Given the description of an element on the screen output the (x, y) to click on. 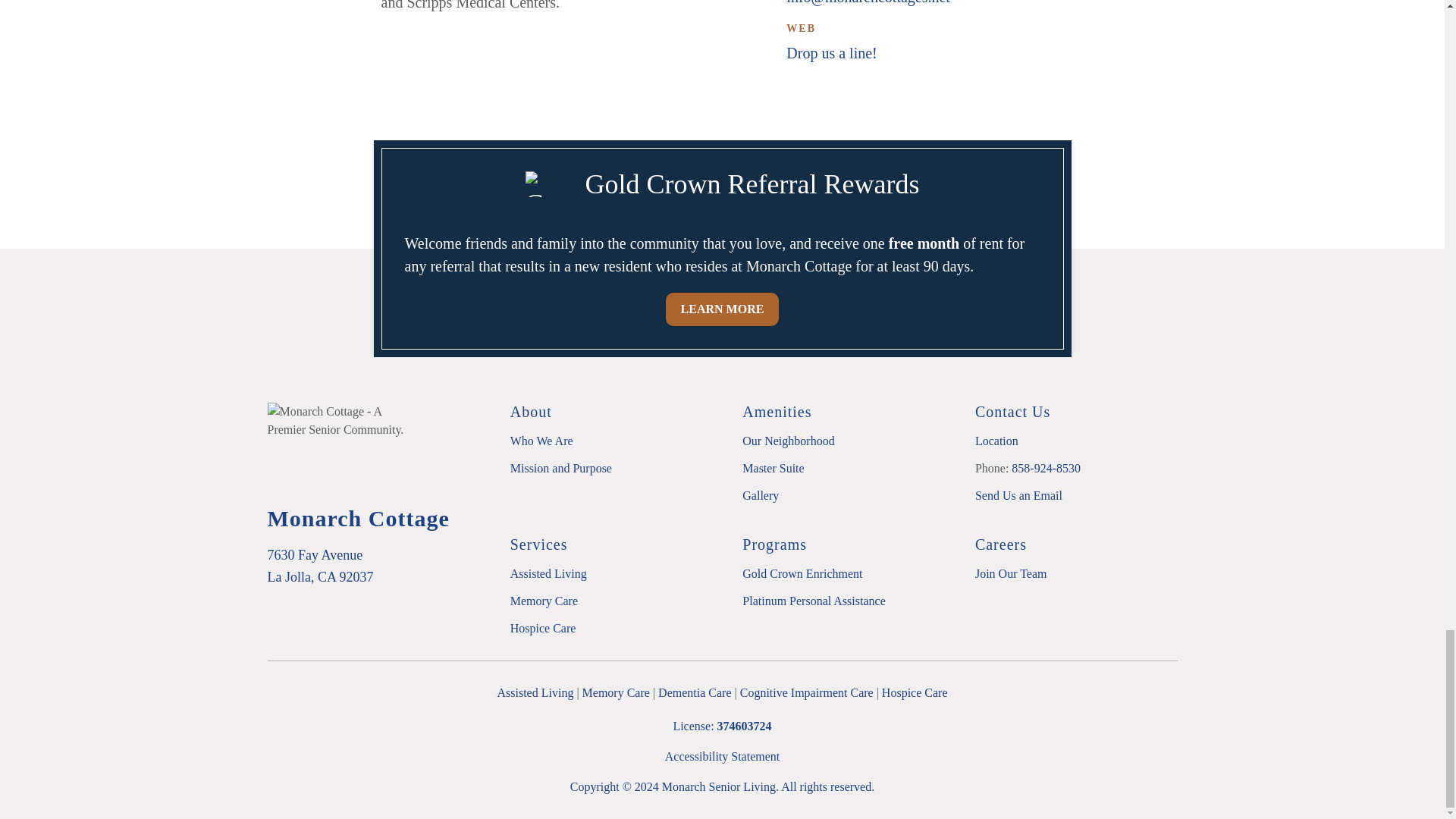
LEARN MORE (721, 308)
Who We Are (542, 440)
Mission and Purpose (561, 468)
Gallery (760, 495)
Drop us a line! (831, 53)
858-924-8530 (1045, 468)
Location (996, 440)
Master Suite (772, 468)
Send Us an Email (1018, 495)
Our Neighborhood (788, 440)
Assisted Living (548, 573)
